Given the description of an element on the screen output the (x, y) to click on. 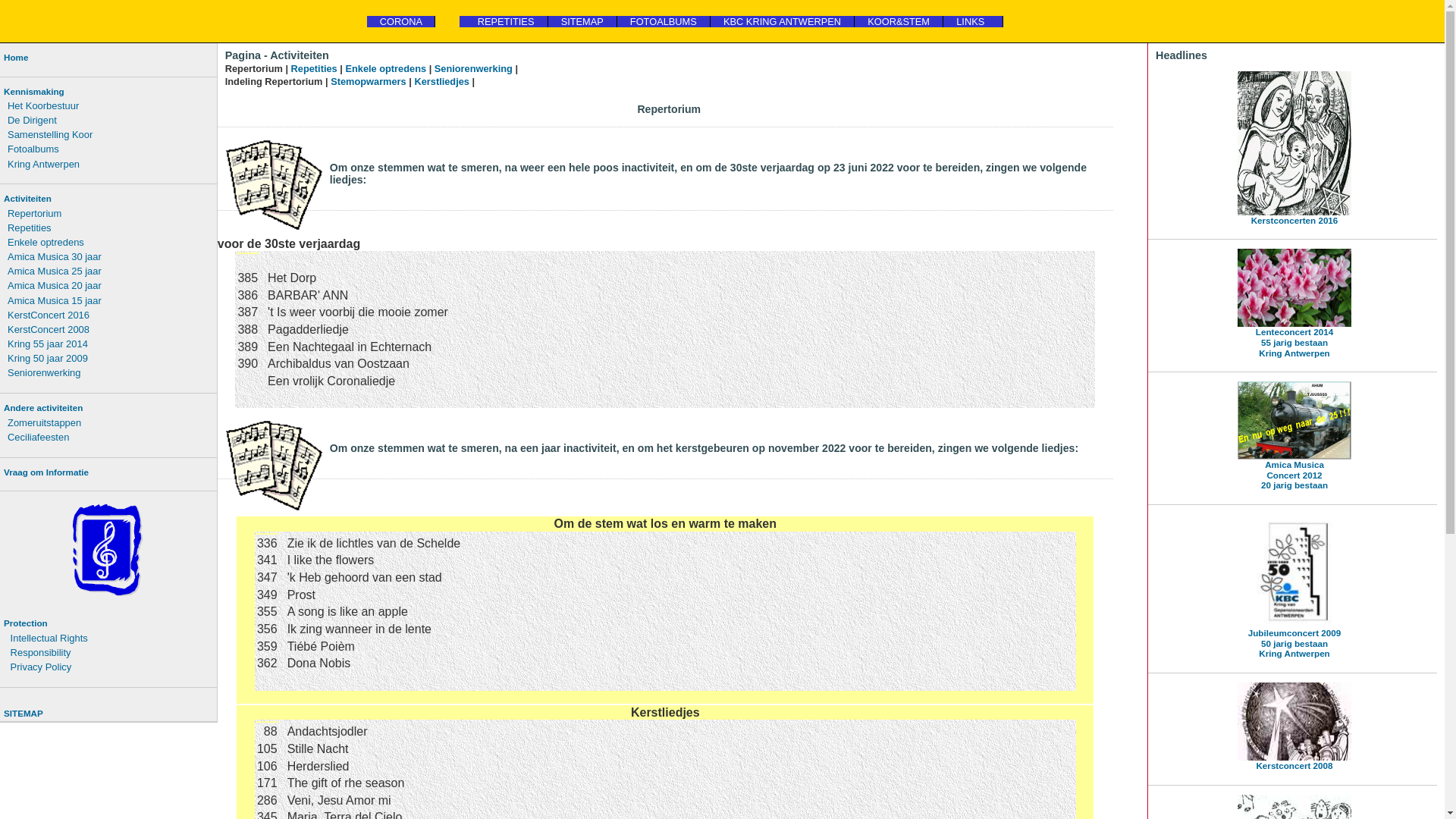
Andere activiteiten Element type: text (108, 407)
Enkele optredens Element type: text (109, 242)
Zomeruitstappen Element type: text (109, 422)
  CORONA   Element type: text (401, 21)
  FOTOALBUMS   Element type: text (663, 21)
Amica Musica 25 jaar Element type: text (109, 270)
Kennismaking Element type: text (108, 91)
Kerstconcerten 2016 Element type: text (1292, 148)
Amica Musica 30 jaar Element type: text (109, 256)
Amica Musica
Concert 2012
20 jarig bestaan Element type: text (1292, 435)
Kring 50 jaar 2009 Element type: text (109, 358)
Kring 55 jaar 2014 Element type: text (109, 343)
SITEMAP Element type: text (108, 713)
De Dirigent Element type: text (109, 119)
Protection Element type: text (108, 623)
Kerstconcert 2008 Element type: text (1292, 726)
KerstConcert 2016 Element type: text (109, 314)
KerstConcert 2008 Element type: text (109, 329)
Enkele optredens Element type: text (386, 68)
Seniorenwerking Element type: text (109, 372)
Kring Antwerpen Element type: text (109, 163)
Samenstelling Koor Element type: text (109, 134)
Lenteconcert 2014
55 jarig bestaan
Kring Antwerpen Element type: text (1292, 303)
Het Koorbestuur Element type: text (109, 105)
 Privacy Policy Element type: text (109, 666)
 Responsibility Element type: text (109, 652)
Repetities Element type: text (314, 68)
  LINKS     Element type: text (973, 21)
Amica Musica 15 jaar Element type: text (109, 300)
Activiteiten Element type: text (108, 198)
Repetities Element type: text (109, 227)
Fotoalbums Element type: text (109, 148)
  KOOR&STEM   Element type: text (898, 21)
 Intellectual Rights Element type: text (109, 637)
Repertorium Element type: text (109, 213)
Vraag om Informatie Element type: text (108, 472)
Amica Musica 20 jaar Element type: text (109, 285)
Jubileumconcert 2009
50 jarig bestaan
Kring Antwerpen Element type: text (1292, 586)
  SITEMAP   Element type: text (582, 21)
Stemopwarmers Element type: text (368, 81)
  KBC KRING ANTWERPEN   Element type: text (782, 21)
Kerstliedjes Element type: text (441, 81)
Seniorenwerking Element type: text (473, 68)
    REPETITIES   Element type: text (503, 21)
Ceciliafeesten Element type: text (109, 436)
Home Element type: text (108, 57)
